Given the description of an element on the screen output the (x, y) to click on. 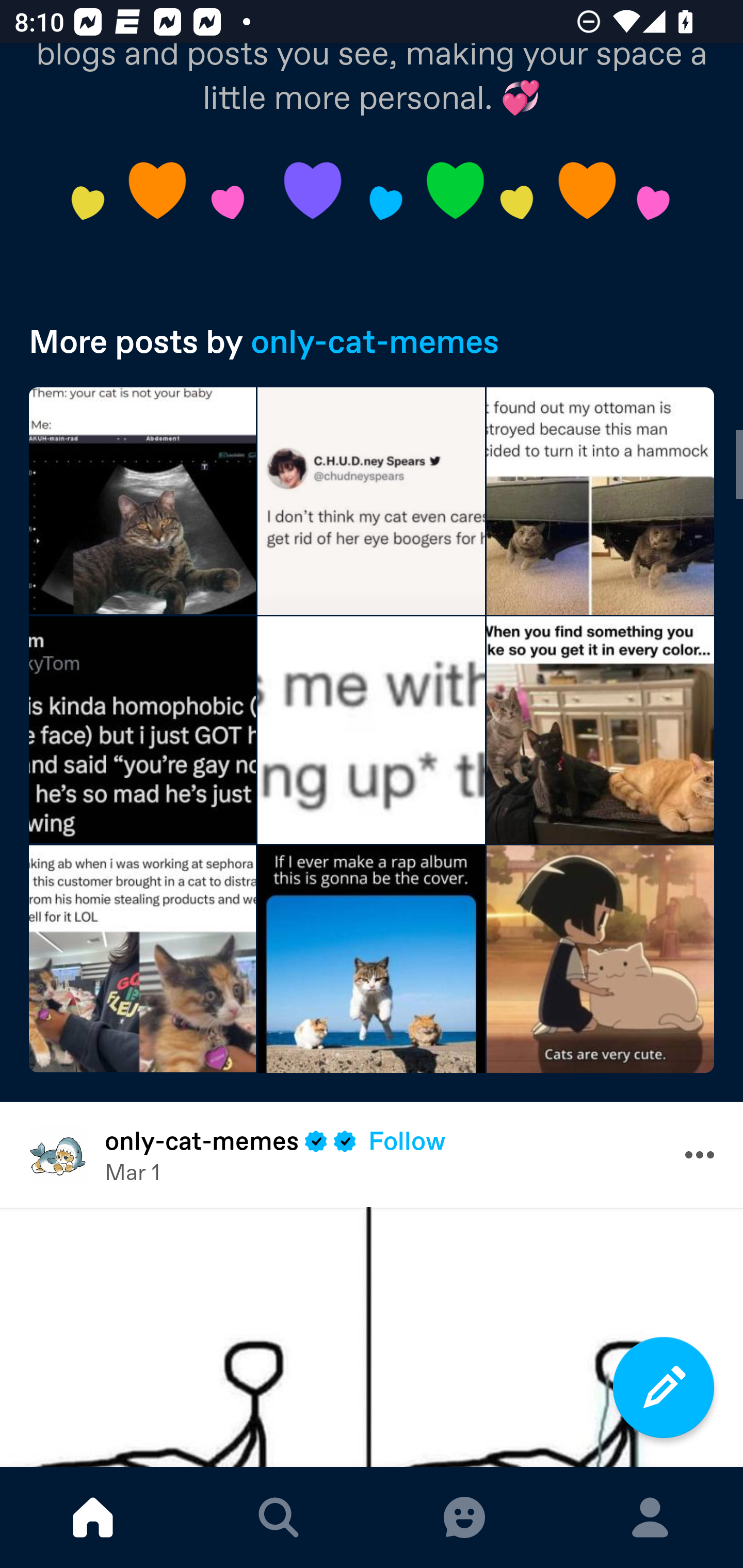
More posts by only-cat-memes (371, 340)
Follow (406, 1139)
Compose a new post (663, 1387)
DASHBOARD (92, 1517)
EXPLORE (278, 1517)
MESSAGES (464, 1517)
ACCOUNT (650, 1517)
